Given the description of an element on the screen output the (x, y) to click on. 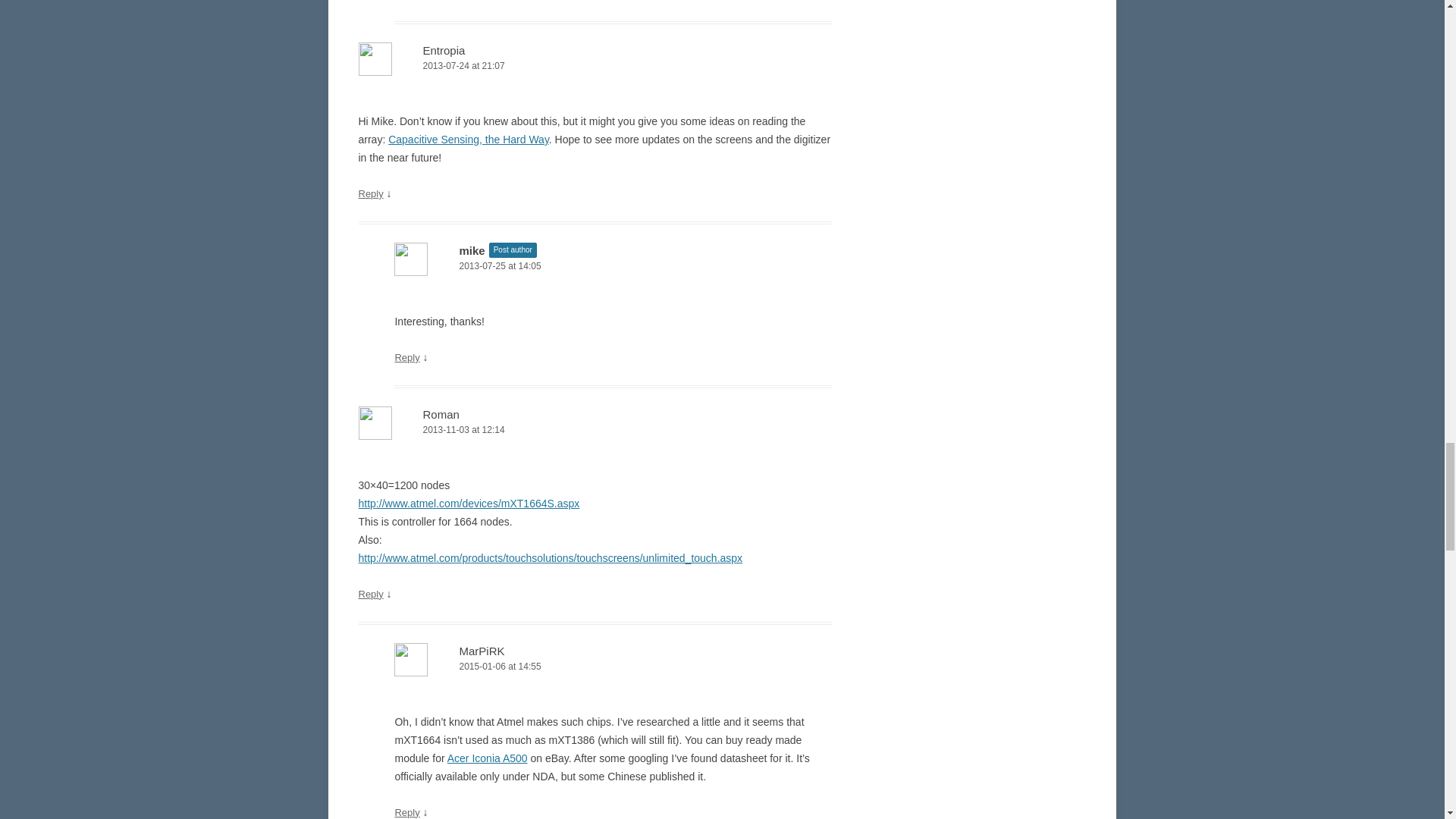
Reply (370, 193)
2013-07-25 at 14:05 (612, 266)
2013-11-03 at 12:14 (594, 430)
Reply (370, 593)
Acer Iconia A500 (486, 758)
Reply (406, 812)
Capacitive Sensing, the Hard Way (468, 139)
2015-01-06 at 14:55 (612, 666)
2013-07-24 at 21:07 (594, 66)
Entropia (444, 50)
Reply (406, 357)
